Given the description of an element on the screen output the (x, y) to click on. 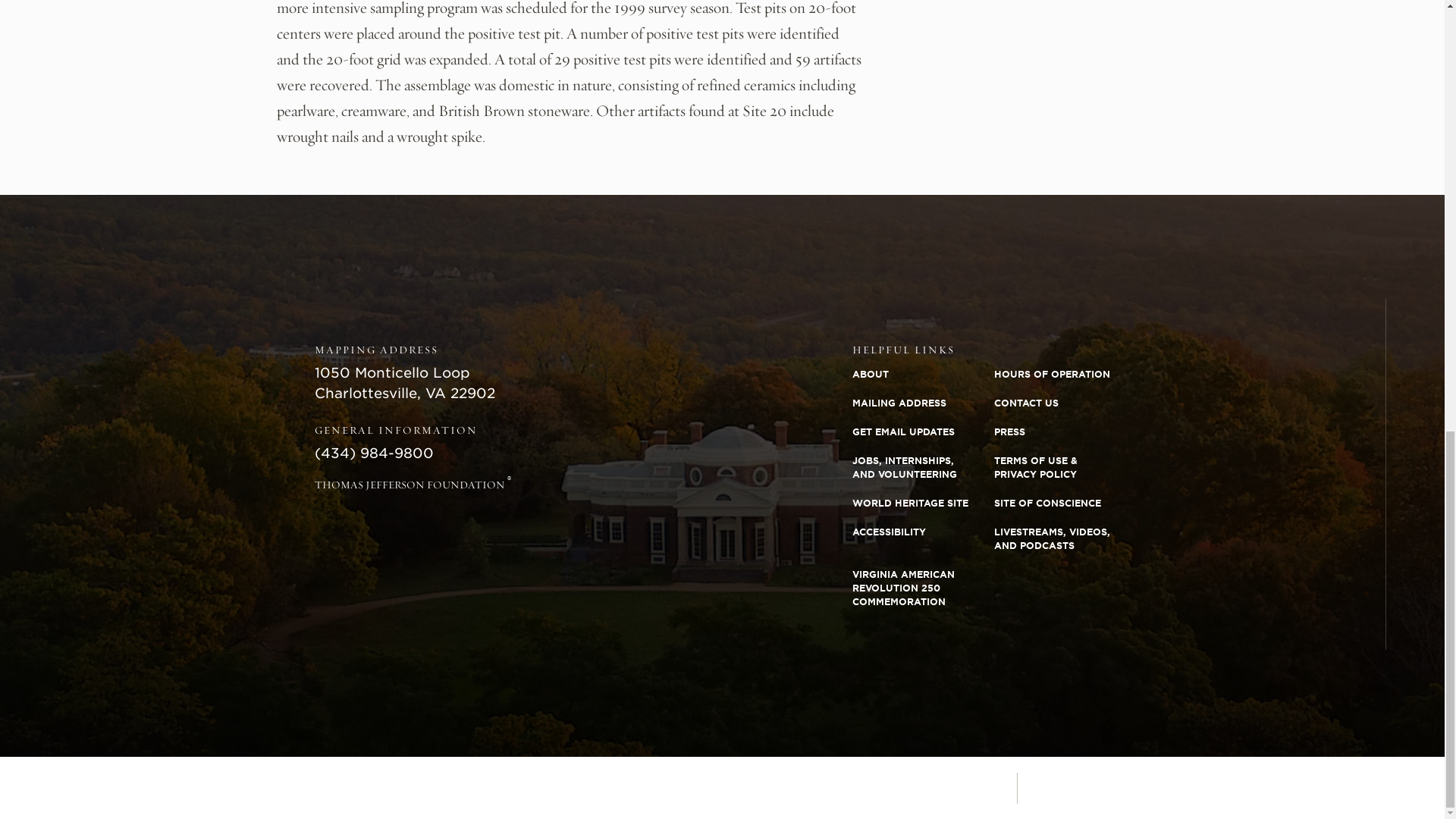
WORLD HERITAGE SITE (922, 502)
CONTACT US (1064, 403)
ABOUT (922, 374)
MAILING ADDRESS (922, 403)
HOURS OF OPERATION (1064, 374)
GET EMAIL UPDATES (922, 431)
PRESS (1064, 431)
JOBS, INTERNSHIPS, AND VOLUNTEERING (922, 467)
